Given the description of an element on the screen output the (x, y) to click on. 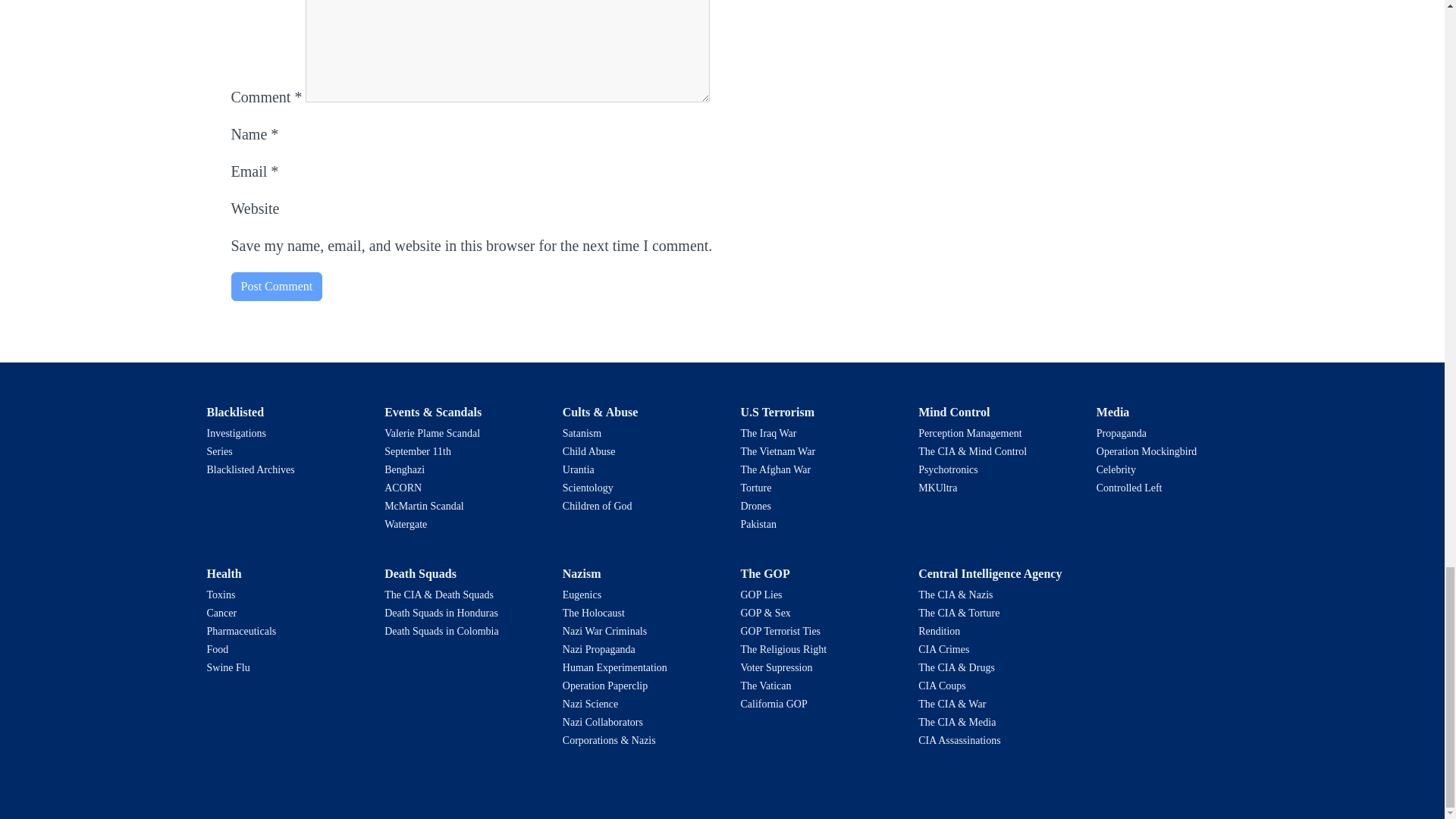
Post Comment (275, 286)
